Given the description of an element on the screen output the (x, y) to click on. 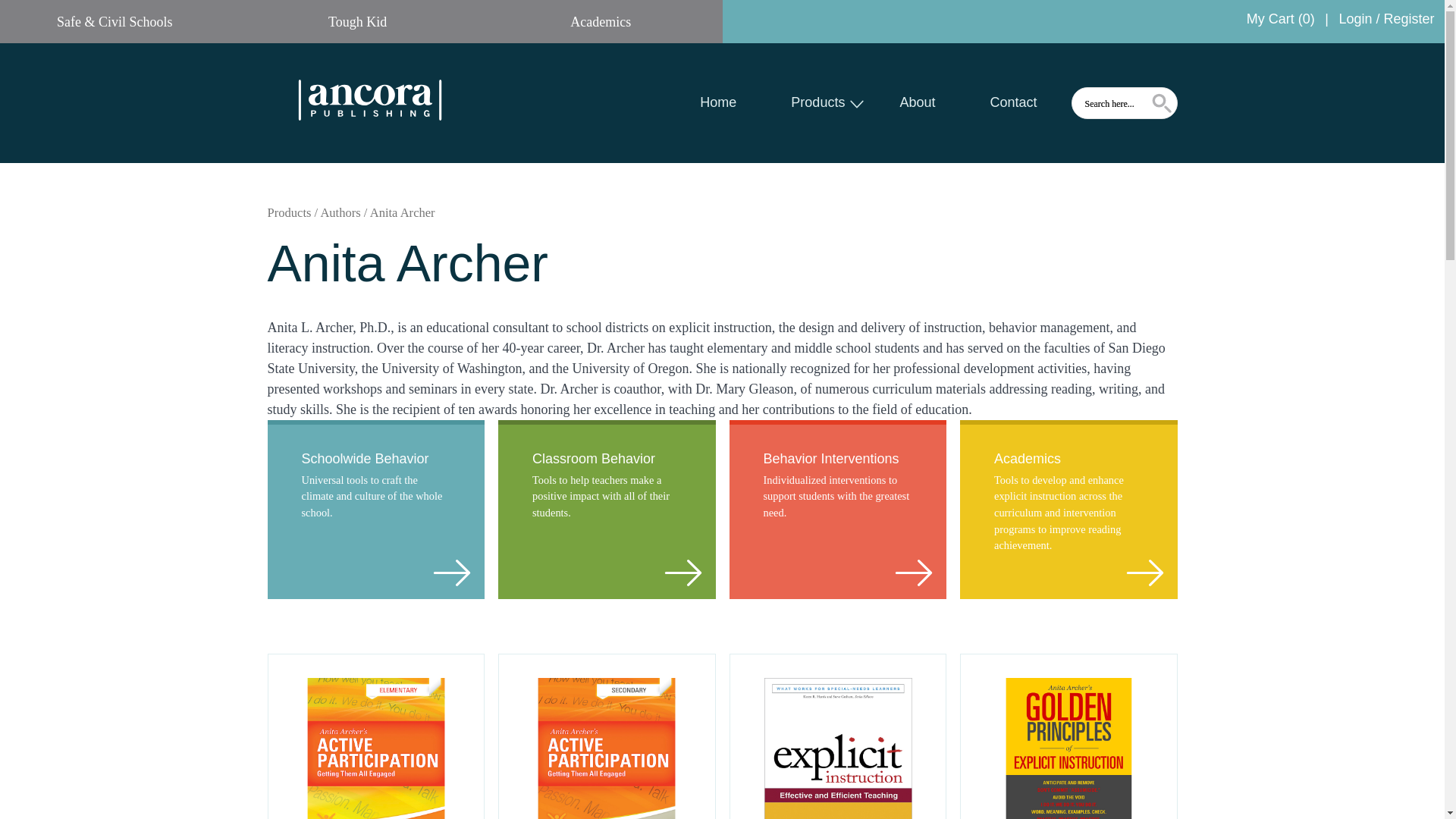
Academics (600, 21)
View Cart (1280, 18)
Products (817, 102)
About (917, 102)
Home (718, 102)
Home (718, 102)
Products (288, 212)
Products (817, 102)
Contact (1013, 102)
Tough Kid (357, 21)
